Given the description of an element on the screen output the (x, y) to click on. 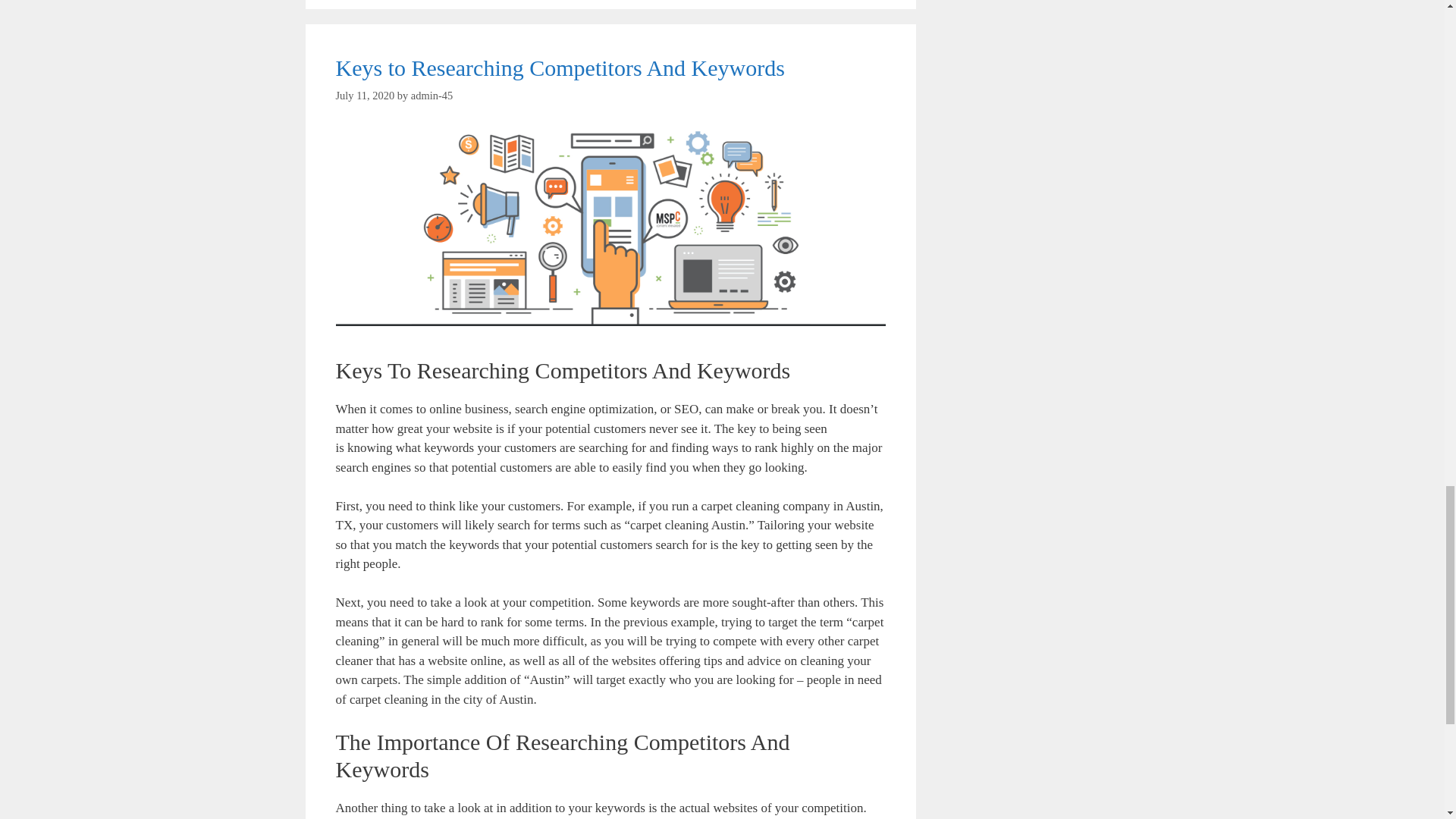
View all posts by admin-45 (431, 95)
admin-45 (431, 95)
Keys to Researching Competitors And Keywords (559, 67)
